Given the description of an element on the screen output the (x, y) to click on. 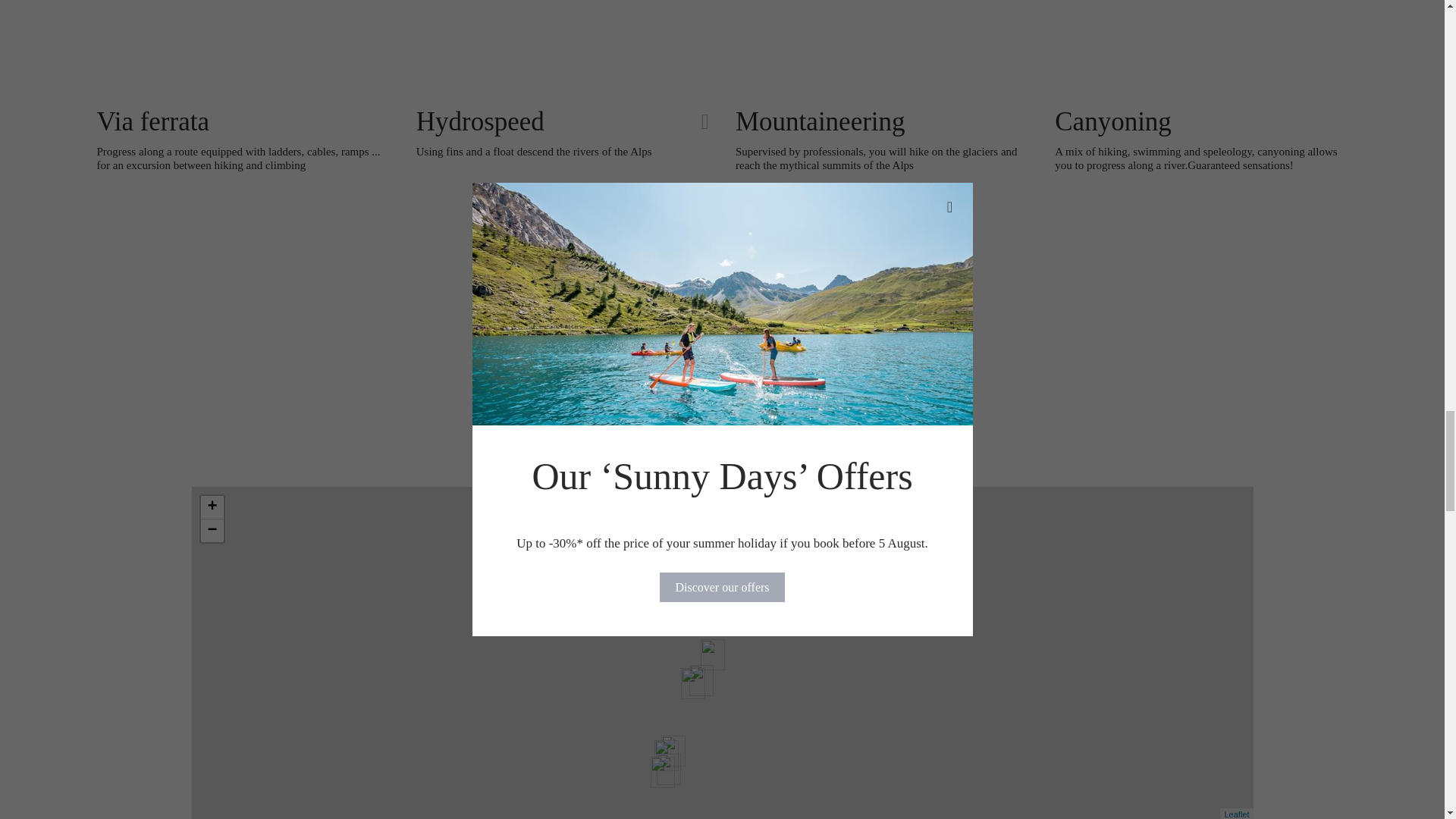
Zoom in (211, 507)
Zoom out (211, 530)
A JS library for interactive maps (1236, 814)
